Given the description of an element on the screen output the (x, y) to click on. 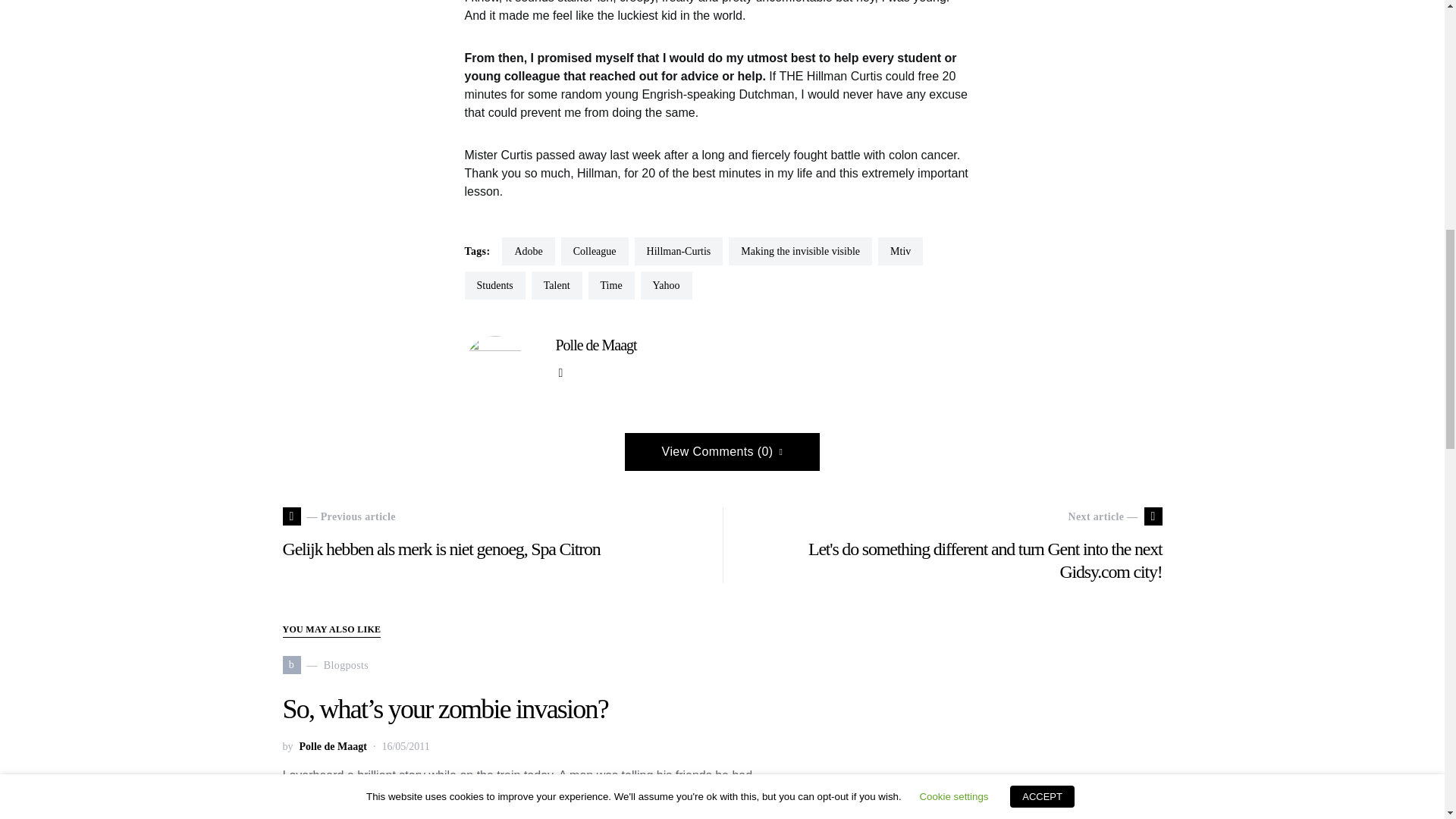
View all posts by Polle de Maagt (332, 746)
Hillman-Curtis (325, 665)
adobe (678, 251)
Polle de Maagt (528, 251)
Yahoo (595, 344)
time (666, 285)
students (611, 285)
colleague (494, 285)
making the invisible visible (594, 251)
Polle de Maagt (800, 251)
mtiv (332, 746)
talent (900, 251)
